Given the description of an element on the screen output the (x, y) to click on. 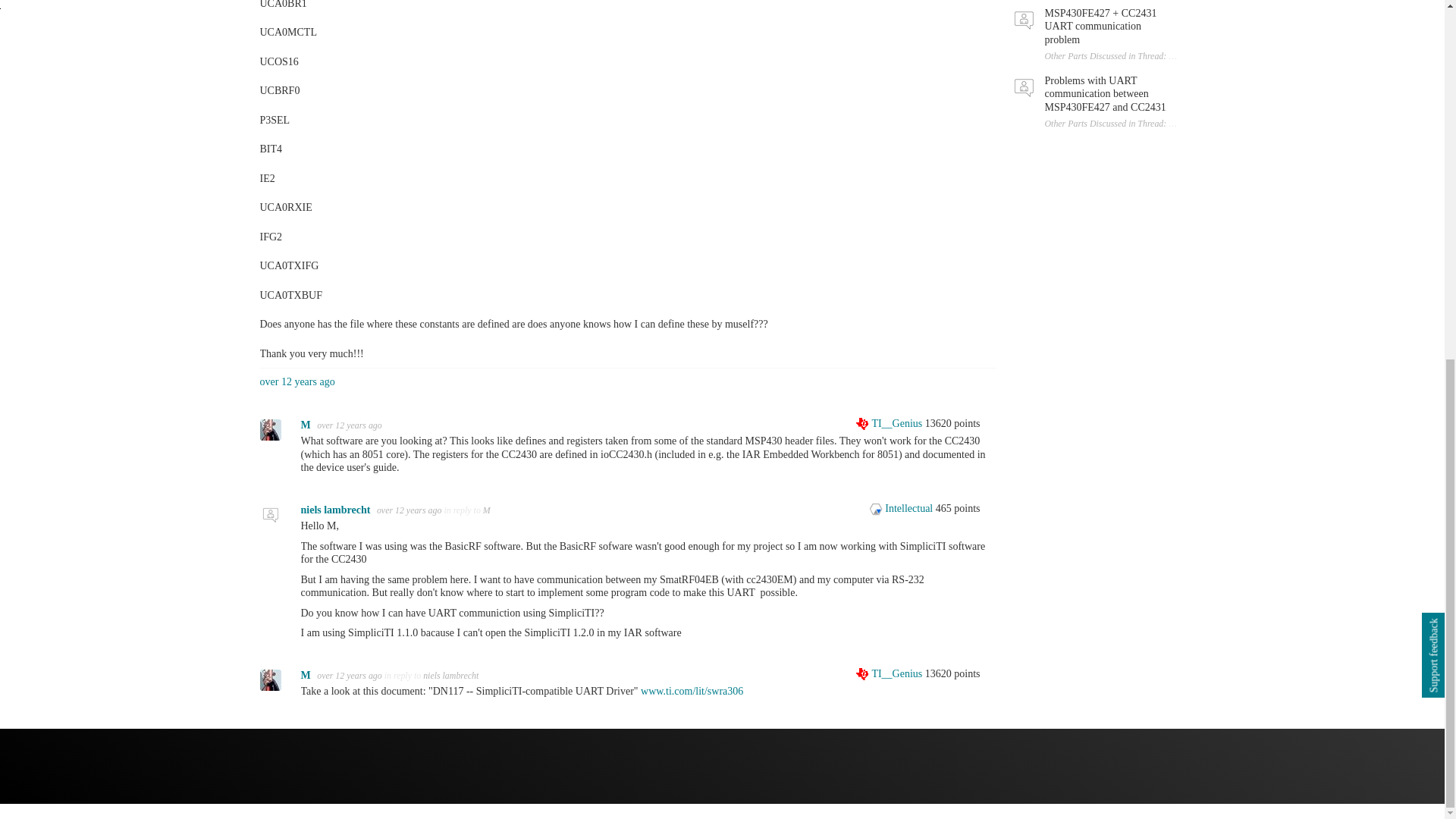
Click here for explanation of levels (901, 508)
Click here for explanation of levels (890, 673)
Click here for explanation of levels (890, 423)
